Given the description of an element on the screen output the (x, y) to click on. 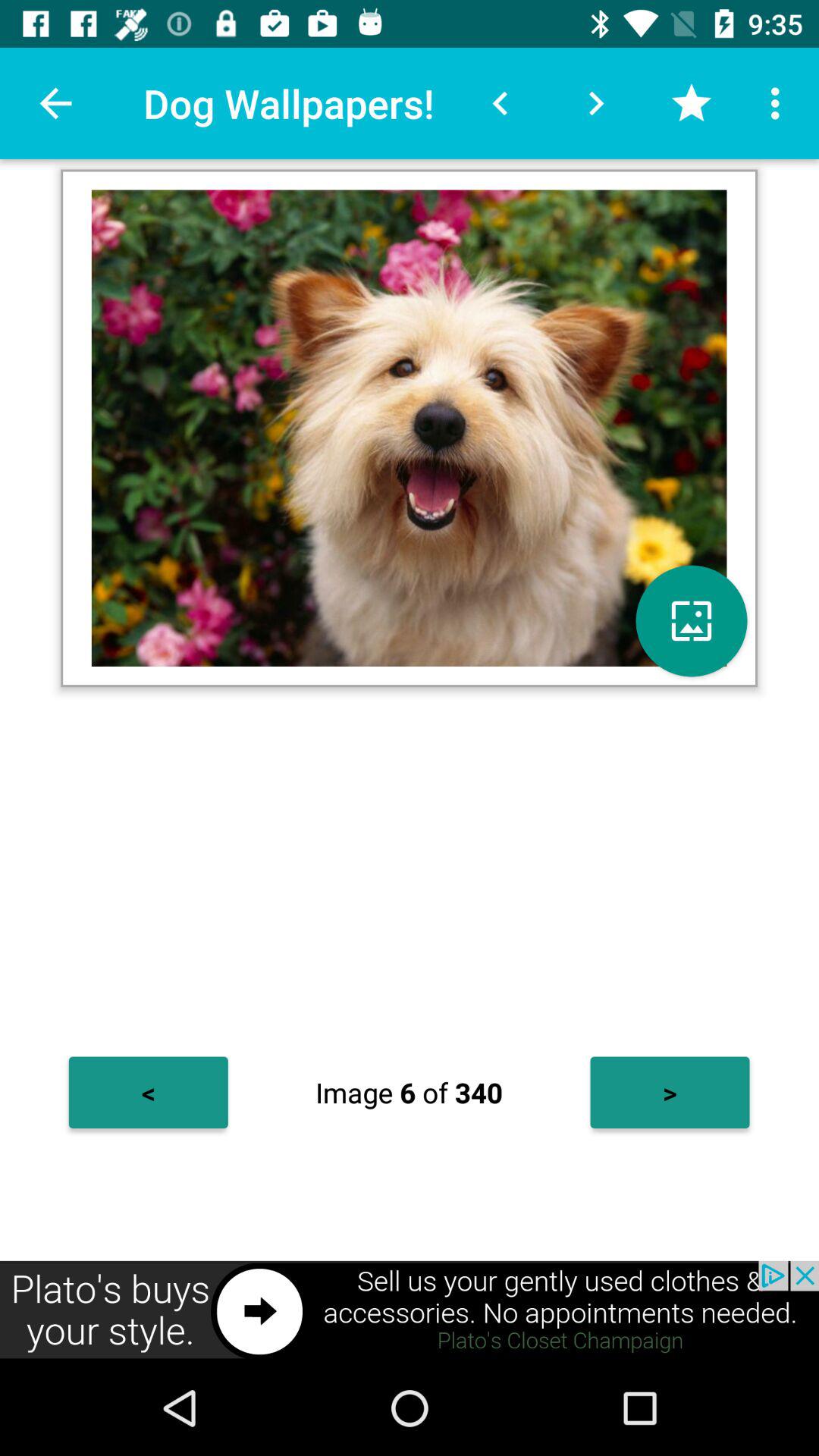
go to download opsion (691, 620)
